Given the description of an element on the screen output the (x, y) to click on. 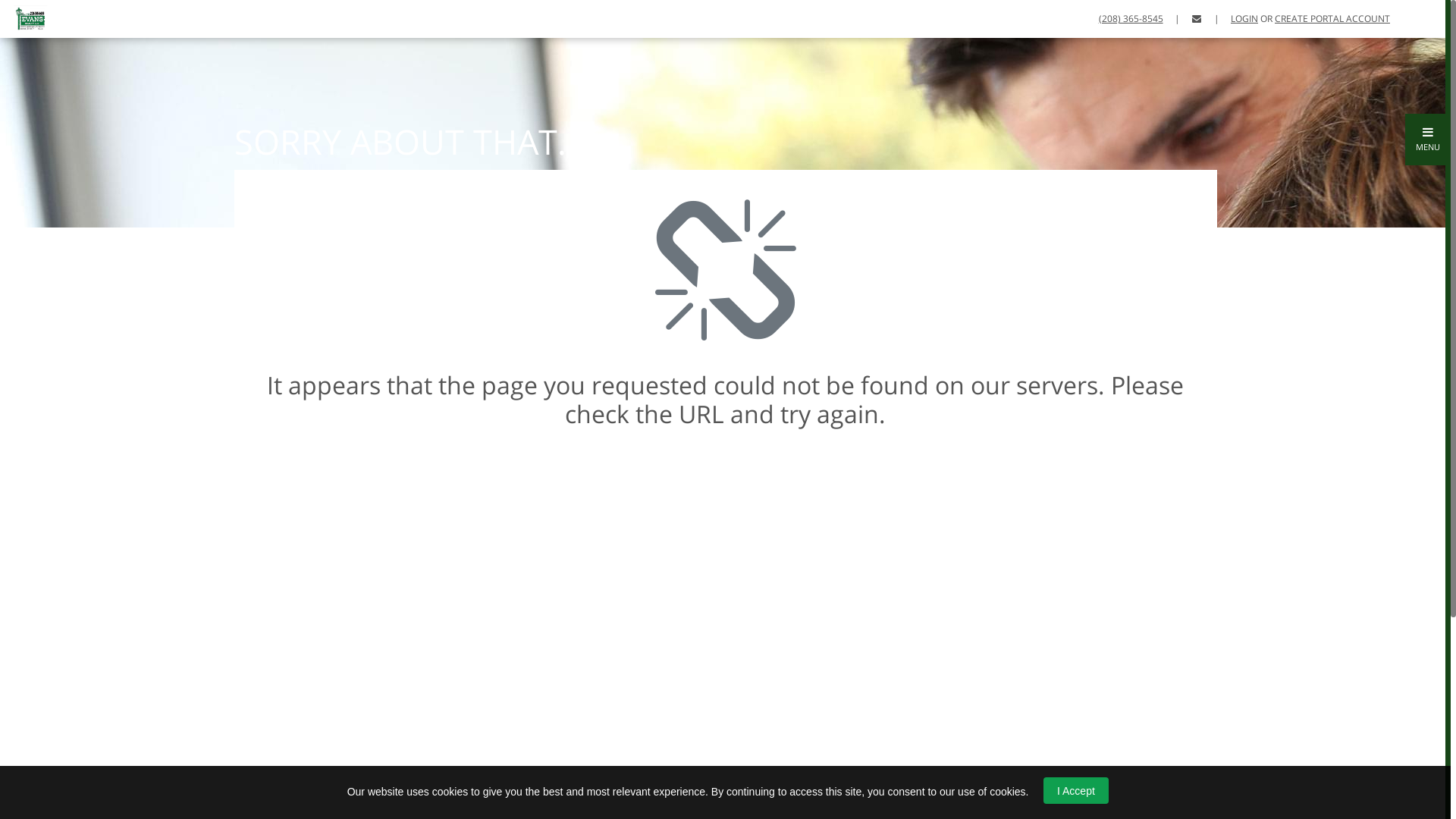
MENU Element type: text (1427, 139)
LOGIN Element type: text (1244, 18)
CREATE PORTAL ACCOUNT Element type: text (1332, 18)
(208) 365-8545 Element type: text (1130, 18)
Click back to homepage Element type: hover (25, 17)
SEND US AN EMAIL Element type: text (1196, 18)
